Given the description of an element on the screen output the (x, y) to click on. 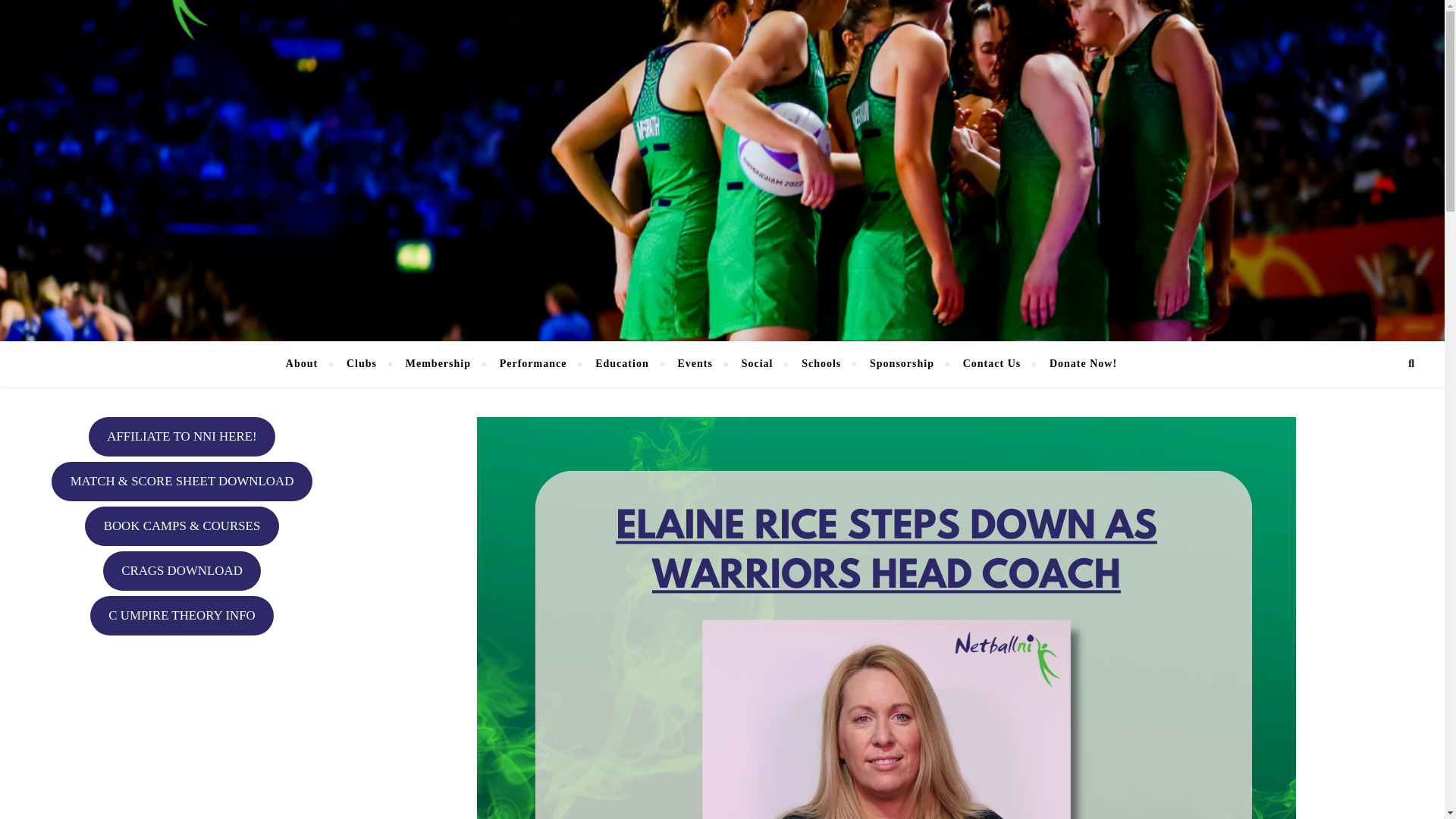
About (307, 363)
Performance (532, 363)
Clubs (361, 363)
Membership (438, 363)
Education (621, 363)
